Given the description of an element on the screen output the (x, y) to click on. 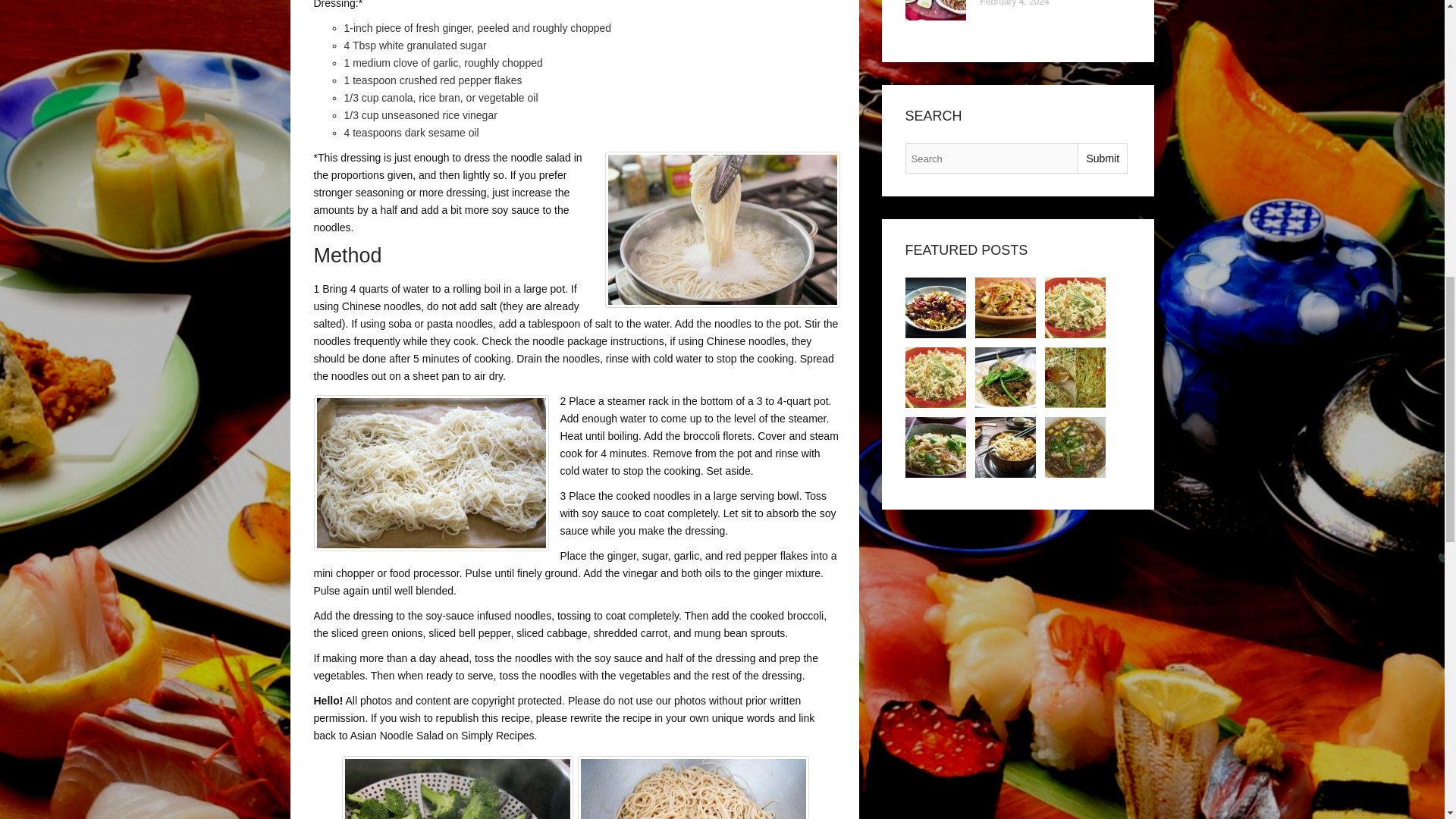
Chinese Noodle Salad recipe cold (935, 307)
Indo Chinese noodles recipe (1075, 377)
Chinese noodles Dishes Recipes (1005, 377)
Authentic Chinese noodles recipe (1005, 446)
Best Chinese Chicken Salad recipe (1005, 307)
Chinese Ramen noodles Salad recipe (935, 377)
Chinese Noodle soup Recipes (1075, 446)
Chinese Chicken cabbage Salad recipe (1075, 307)
Spicy Chinese noodles recipe (935, 446)
Submit (1101, 158)
